Given the description of an element on the screen output the (x, y) to click on. 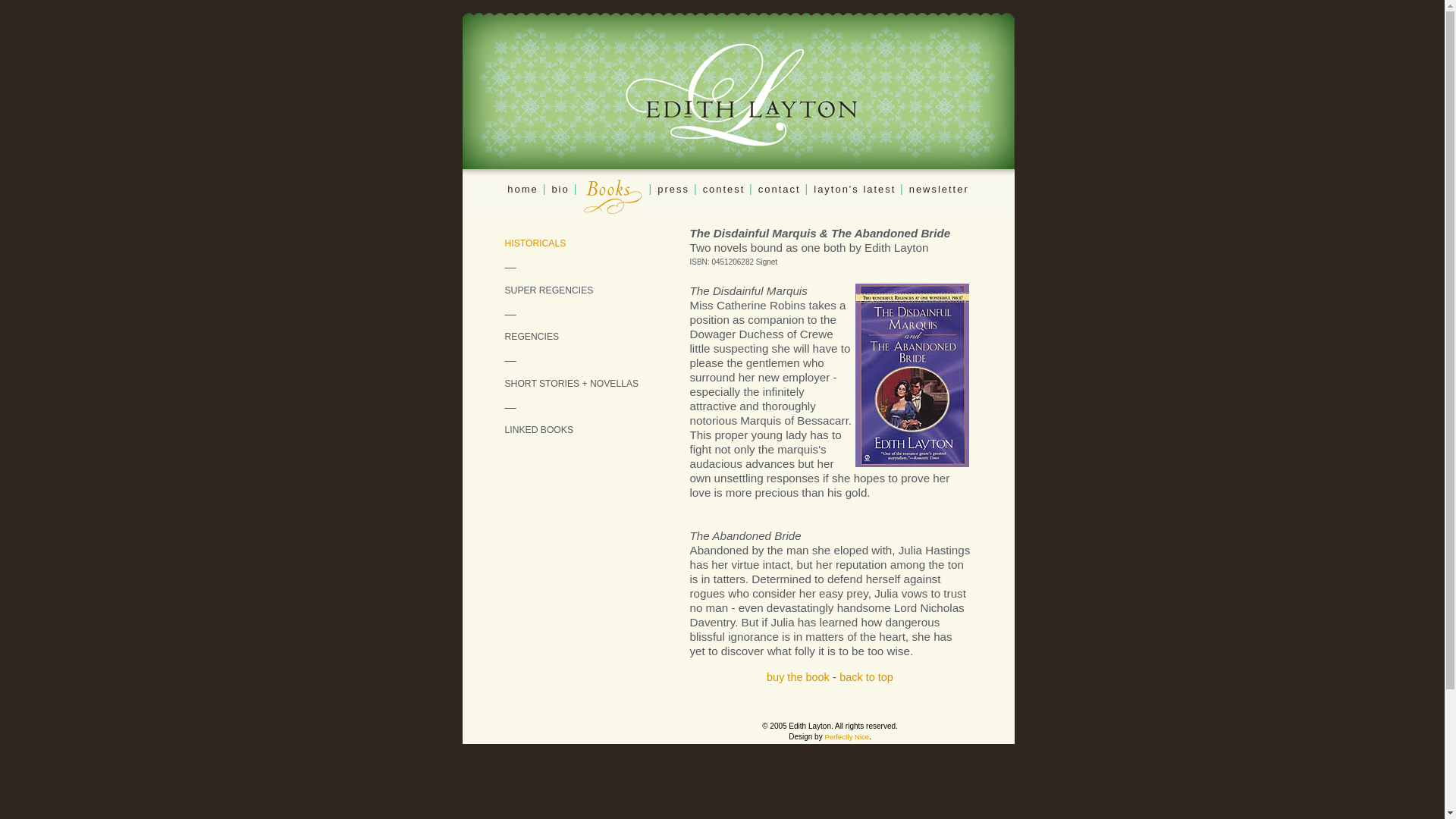
home (521, 188)
SUPER REGENCIES (549, 290)
contest (726, 188)
buy the book (798, 676)
press (673, 188)
LINKED BOOKS (539, 429)
contact (779, 188)
HISTORICALS (535, 243)
back to top (866, 676)
REGENCIES (532, 336)
